Given the description of an element on the screen output the (x, y) to click on. 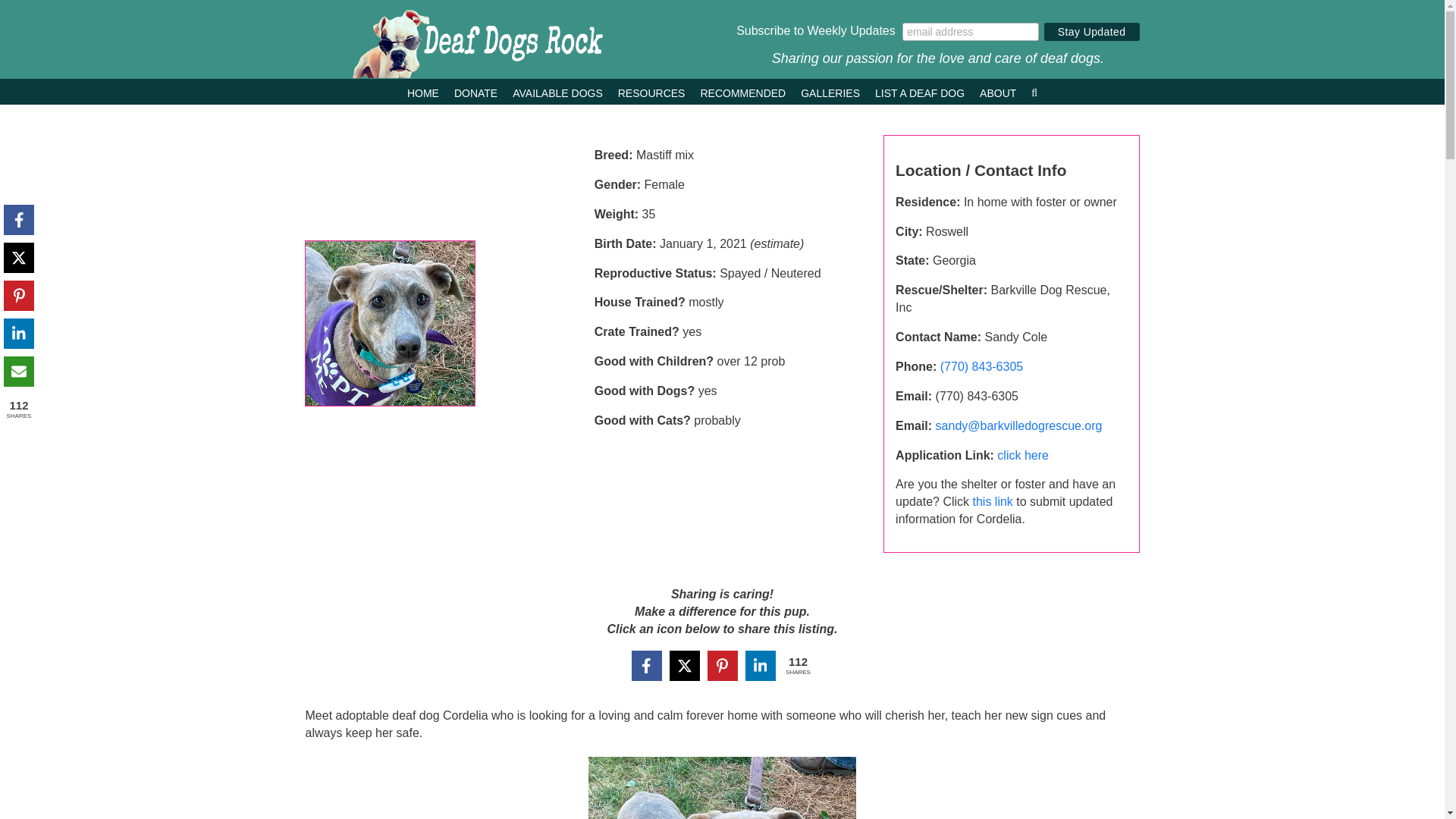
RECOMMENDED (743, 91)
AVAILABLE DOGS (557, 91)
ABOUT (997, 91)
LIST A DEAF DOG (919, 91)
Stay Updated (1091, 31)
HOME (423, 91)
Cordelia-front (389, 322)
DONATE (475, 91)
Stay Updated (1091, 31)
RESOURCES (651, 91)
GALLERIES (830, 91)
